Given the description of an element on the screen output the (x, y) to click on. 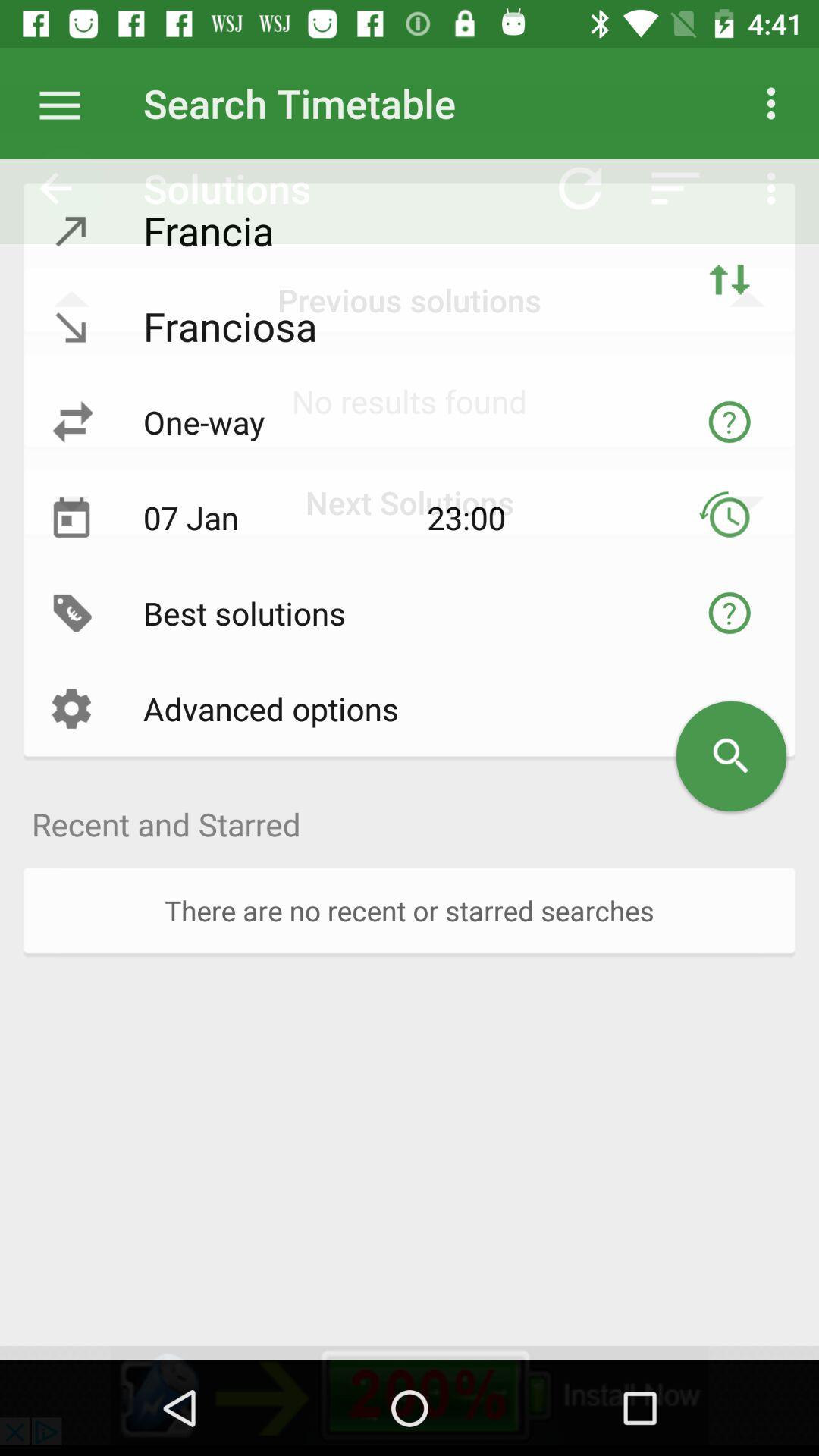
more options (67, 103)
